Given the description of an element on the screen output the (x, y) to click on. 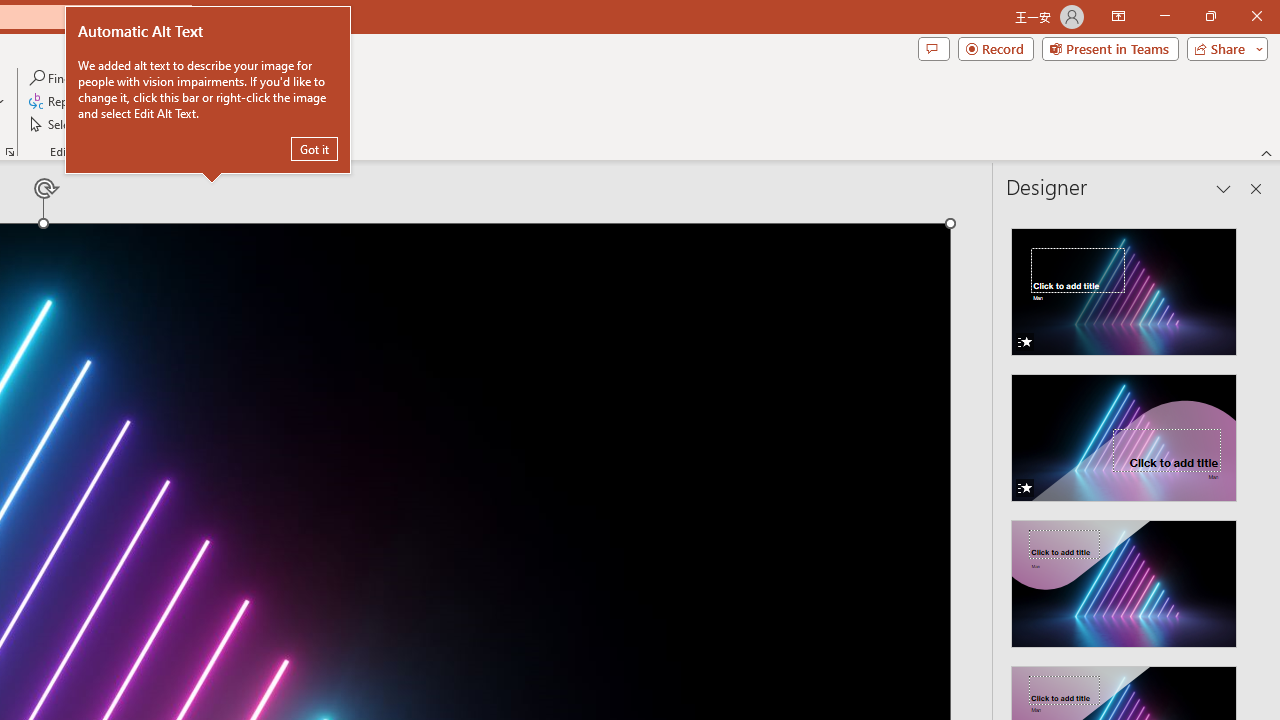
Got it (313, 148)
Design Idea (1124, 577)
Recommended Design: Animation (1124, 286)
